Given the description of an element on the screen output the (x, y) to click on. 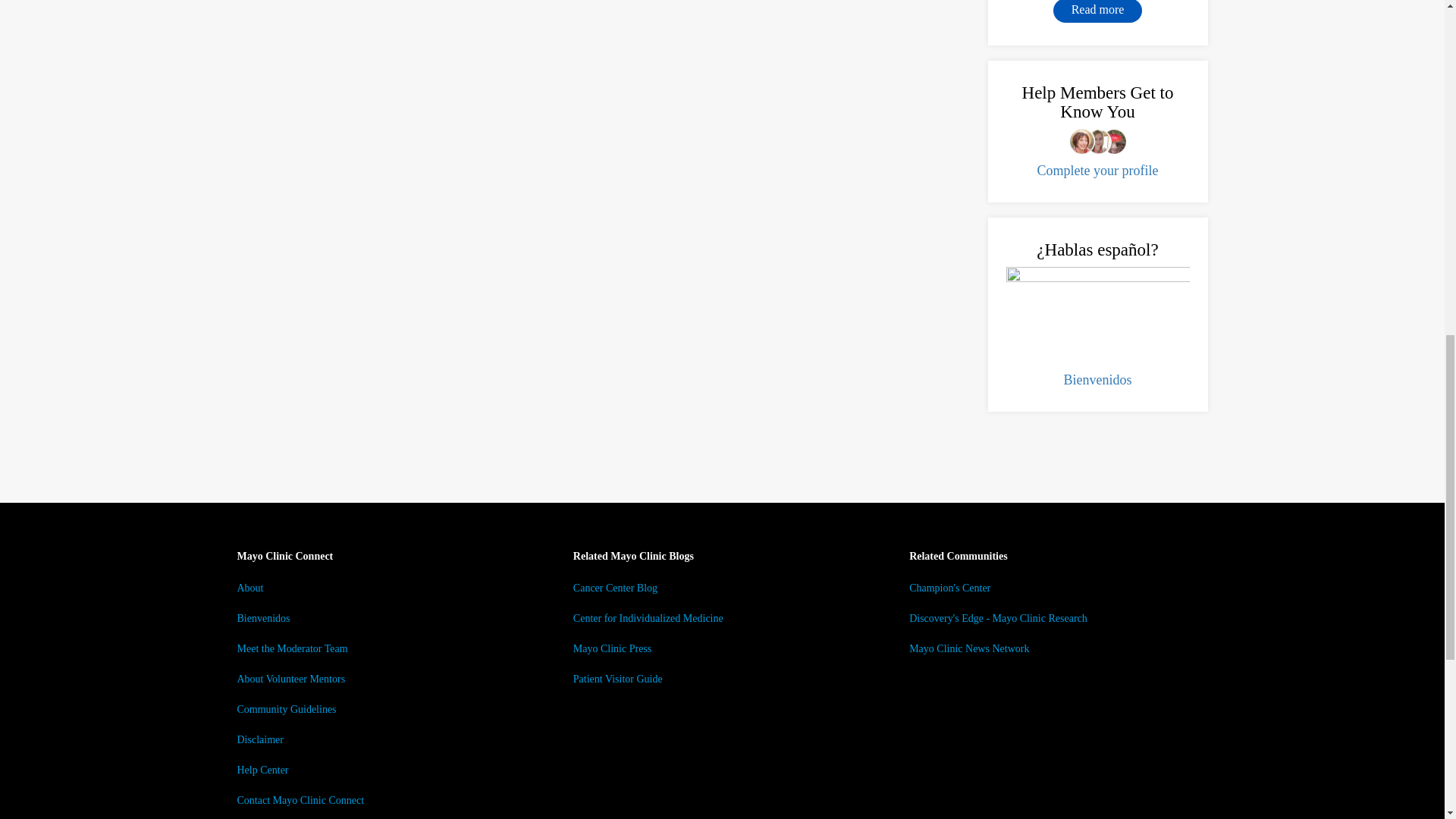
Bienvenidos (1096, 379)
Disclaimer (258, 739)
Read more (1097, 11)
Contact Mayo Clinic Connect (299, 799)
Patient Visitor Guide (617, 678)
Center for Individualized Medicine (648, 618)
Community Guidelines (285, 708)
Help Center (261, 769)
Complete your profile (1097, 170)
Bienvenidos (262, 618)
About Volunteer Mentors (290, 678)
About (249, 587)
Mayo Clinic Press (611, 648)
Cancer Center Blog (615, 587)
Discovery's Edge - Mayo Clinic Research (997, 618)
